Given the description of an element on the screen output the (x, y) to click on. 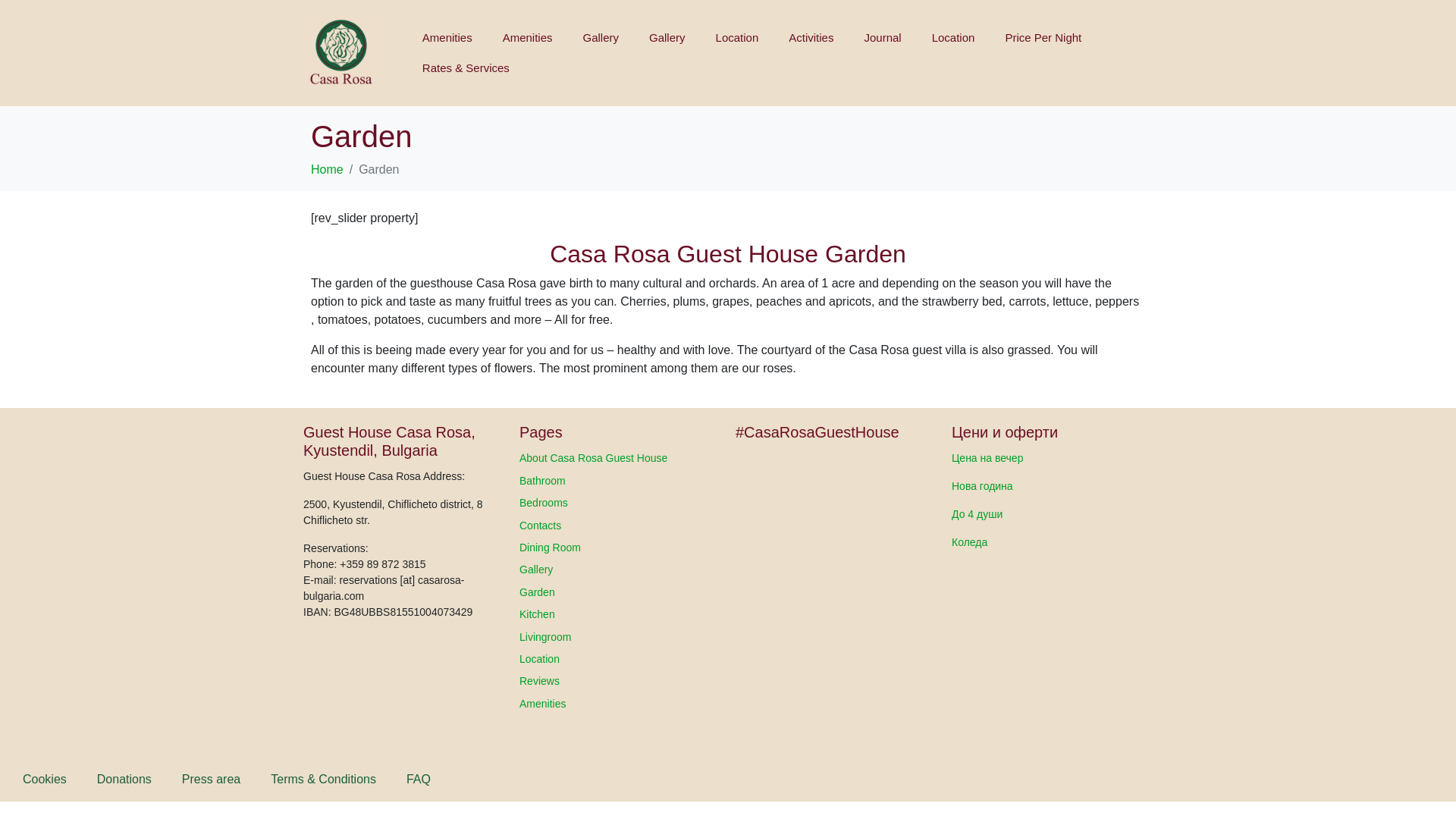
Location (737, 37)
Gallery (666, 37)
Activities (810, 37)
Gallery (600, 37)
Price Per Night (1043, 37)
Location (953, 37)
Journal (881, 37)
